Given the description of an element on the screen output the (x, y) to click on. 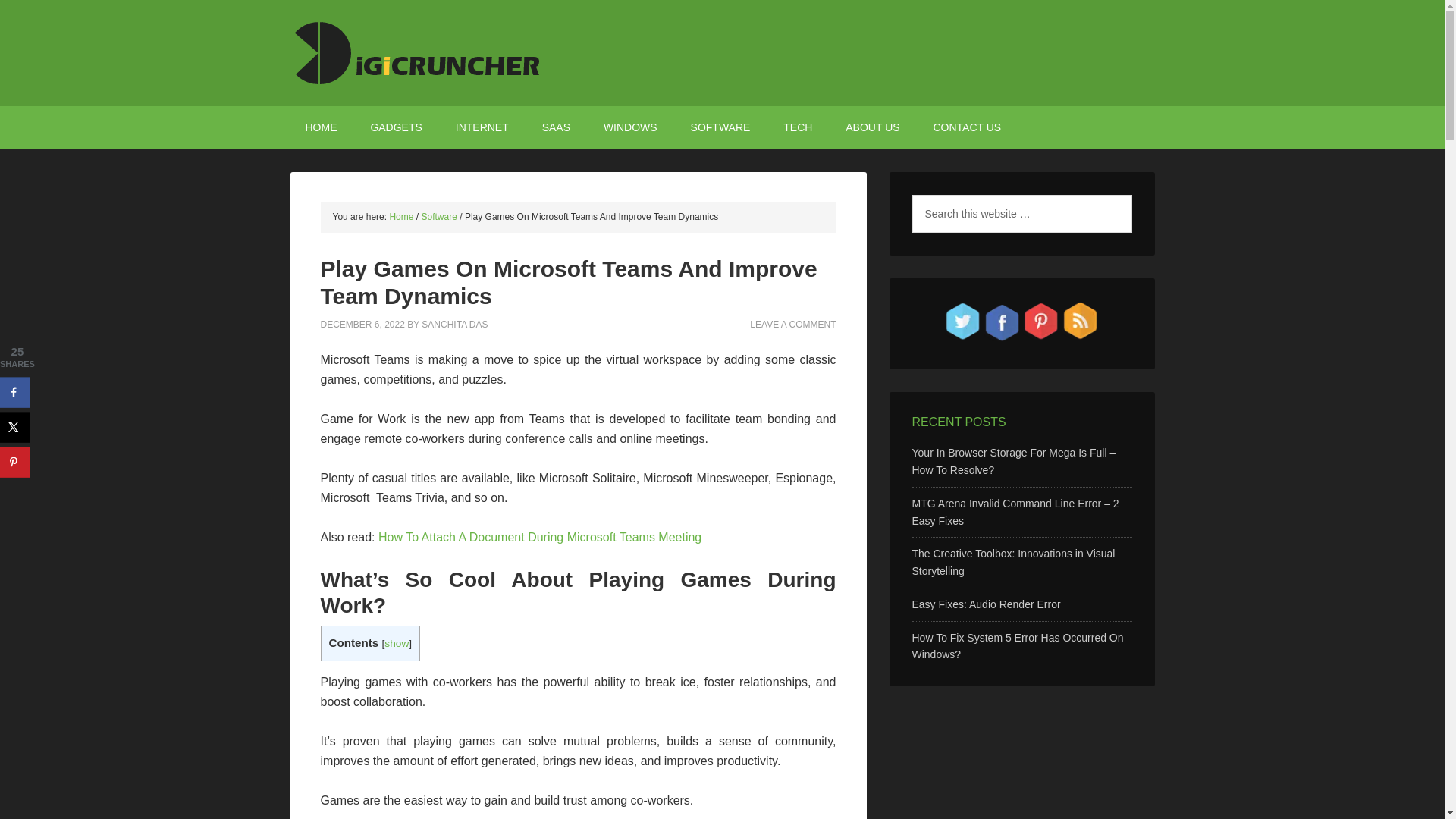
Software (439, 216)
LEAVE A COMMENT (792, 323)
GADGETS (395, 127)
Easy Fixes: Audio Render Error (985, 604)
HOME (320, 127)
ABOUT US (871, 127)
Share on Facebook (15, 391)
Share on X (15, 426)
SOFTWARE (720, 127)
show (396, 643)
